Given the description of an element on the screen output the (x, y) to click on. 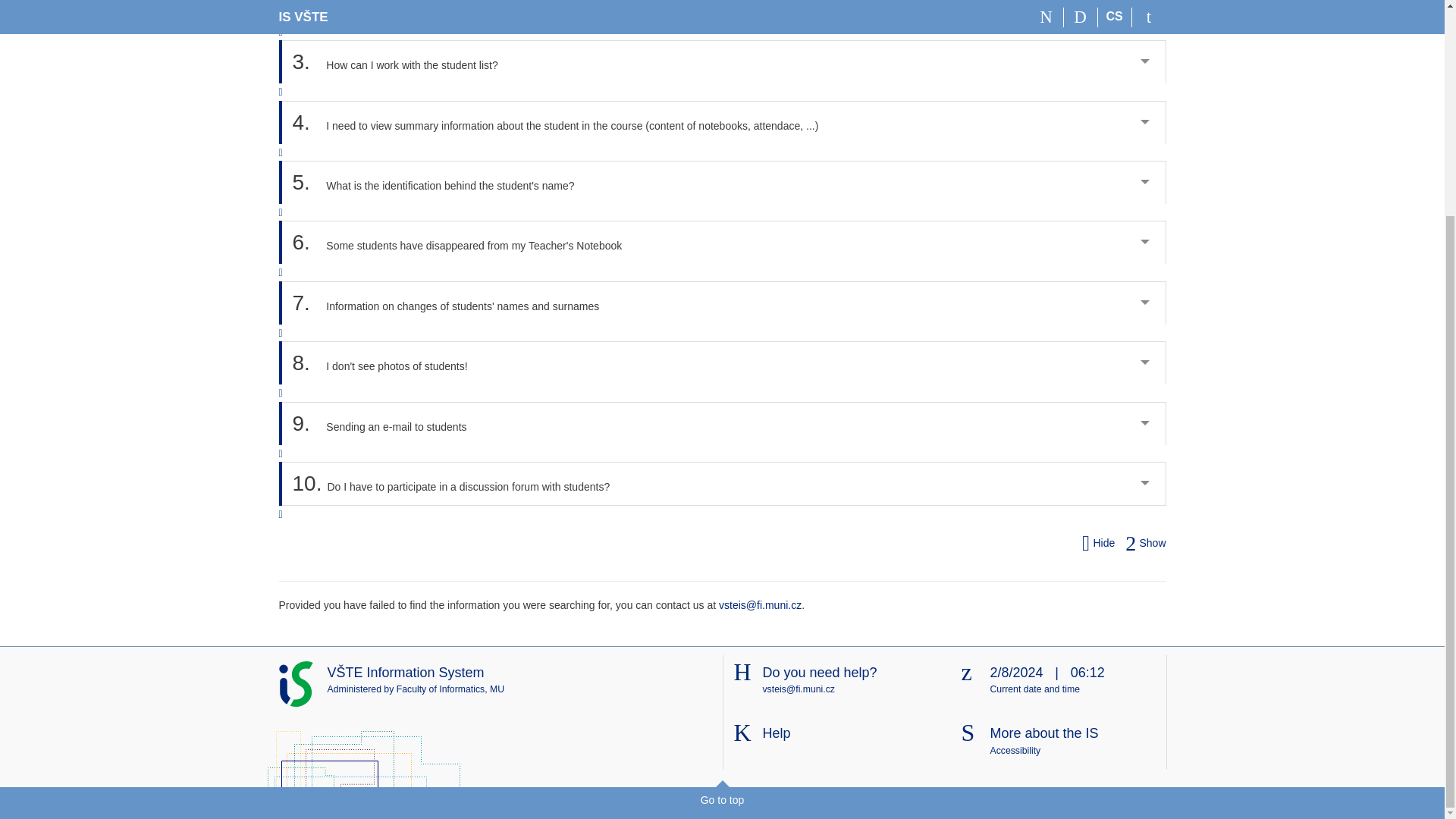
6.Some students have disappeared from my Teacher's Notebook (724, 241)
5.What is the identification behind the student's name? (724, 181)
2.What is meant by "change filter" of the student list? (724, 11)
9.Sending an e-mail to students (724, 423)
7.Information on changes of students' names and surnames (724, 302)
8.I don't see photos of students! (724, 362)
3.How can I work with the student list? (724, 61)
